Given the description of an element on the screen output the (x, y) to click on. 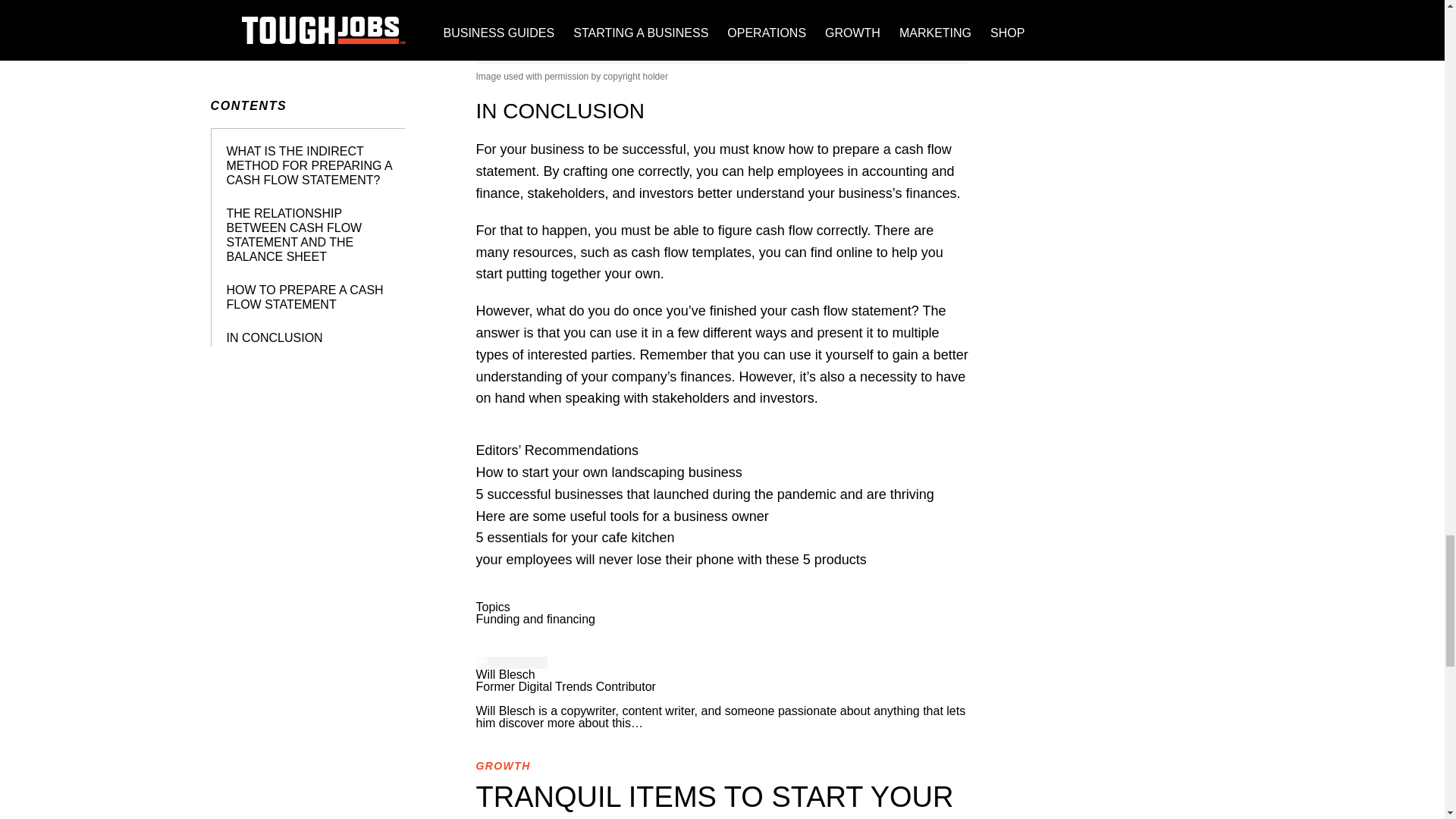
Funding and financing (535, 618)
Here are some useful tools for a business owner (622, 516)
How to start your own landscaping business (609, 472)
Email (722, 698)
Will Blesch (505, 674)
5 essentials for your cafe kitchen (575, 537)
GROWTH (503, 766)
